Given the description of an element on the screen output the (x, y) to click on. 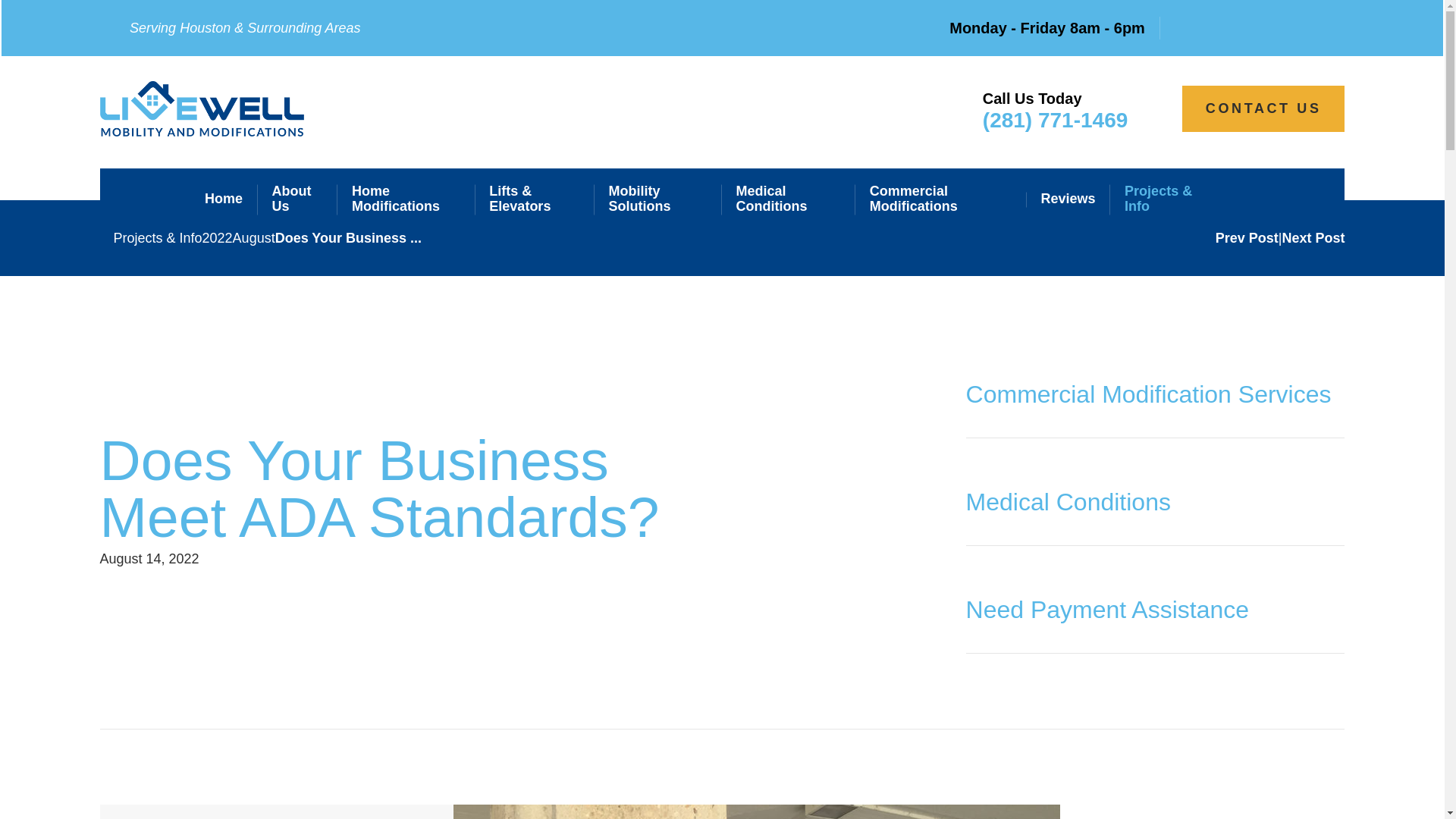
Medical Conditions (787, 200)
Open the accessibility options menu (1423, 798)
Home Modifications (406, 200)
Search Our Site (1230, 199)
YouTube (1246, 28)
Go Home (106, 237)
CONTACT US (1263, 108)
Home (224, 200)
LinkedIn (1287, 28)
Facebook (1204, 28)
LiveWell mobility and Modifications (202, 108)
Mobility Solutions (657, 200)
About Us (297, 200)
Google Business Profile (1326, 28)
